Given the description of an element on the screen output the (x, y) to click on. 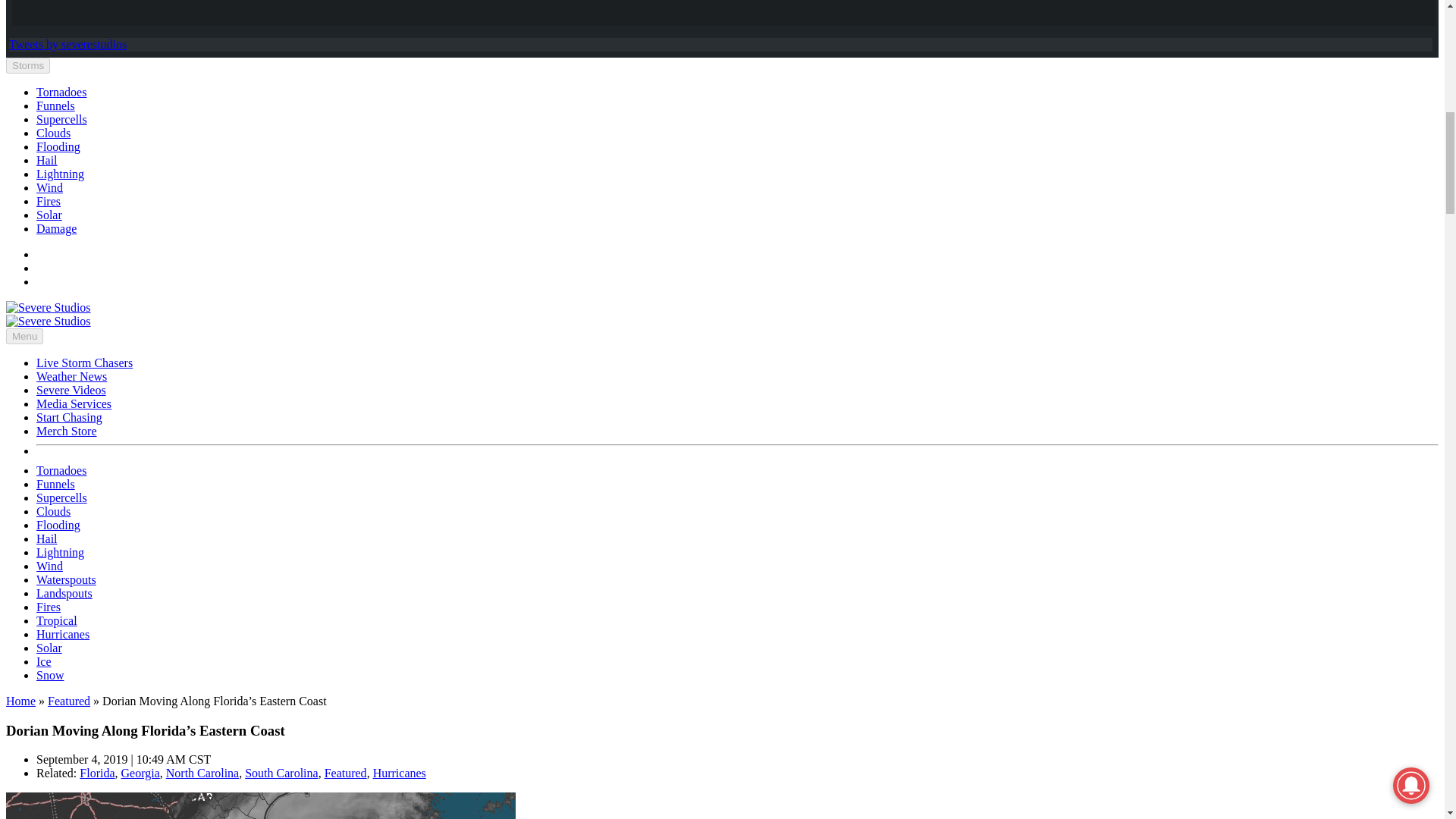
Tweets by severestudios (67, 43)
Clouds Reports (52, 132)
Clouds (52, 511)
Tornadoes (60, 91)
Media Services (74, 403)
Wind (49, 187)
Flooding (58, 524)
Funnel Reports (55, 105)
Weather News (71, 376)
Storms (27, 65)
Supercell Reports (61, 119)
Wildfire Reports (48, 201)
Merch Store (66, 431)
Solar (49, 214)
Tropical (56, 620)
